Given the description of an element on the screen output the (x, y) to click on. 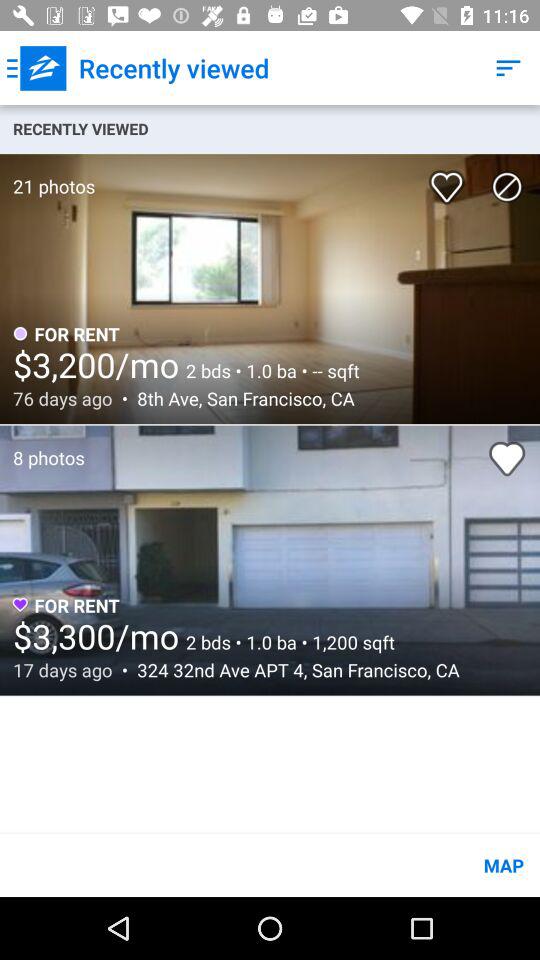
turn off the item on the right (507, 458)
